Given the description of an element on the screen output the (x, y) to click on. 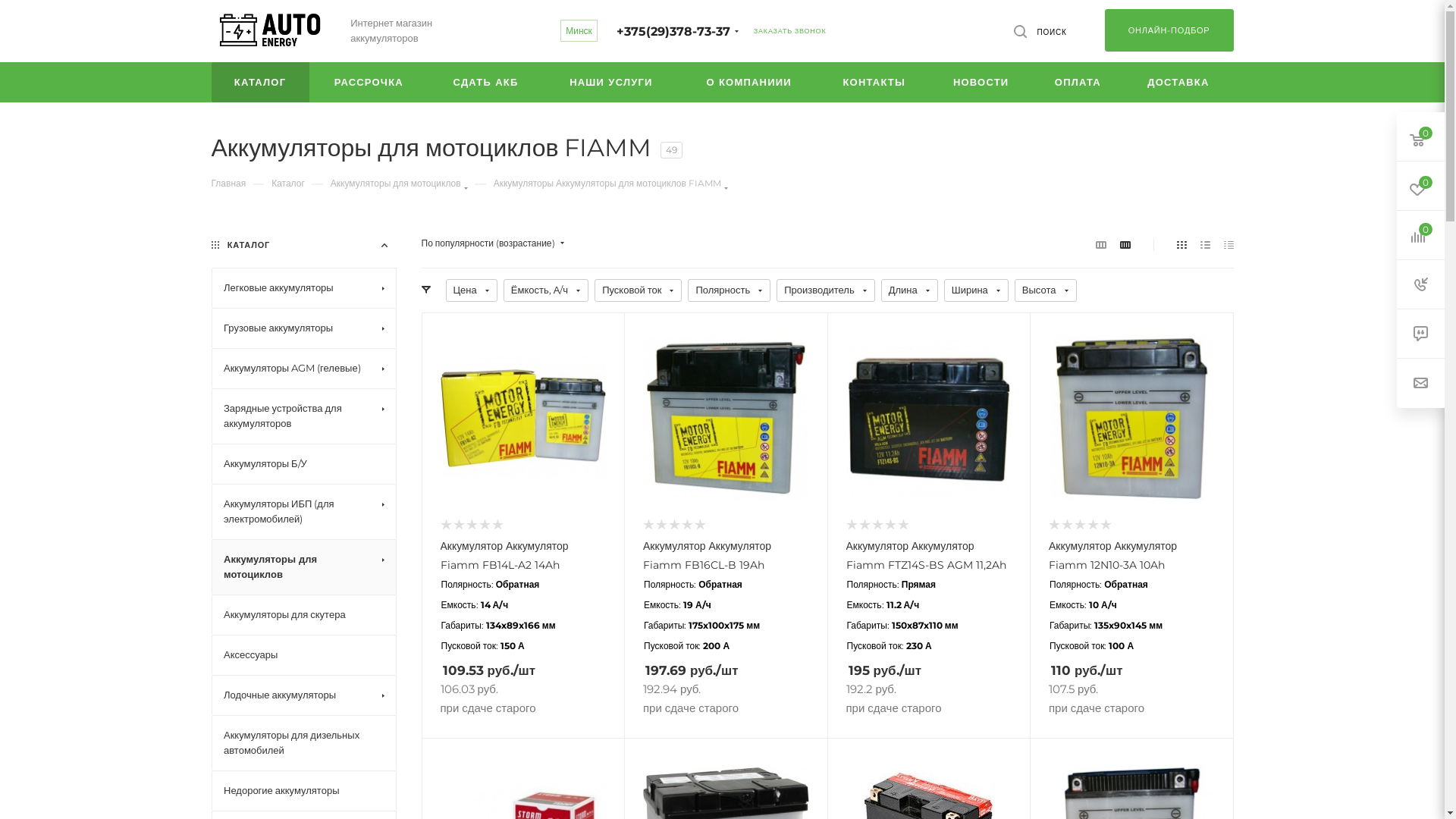
+375(29)378-73-37 Element type: text (673, 31)
autoenergy.by Element type: hover (268, 31)
